Given the description of an element on the screen output the (x, y) to click on. 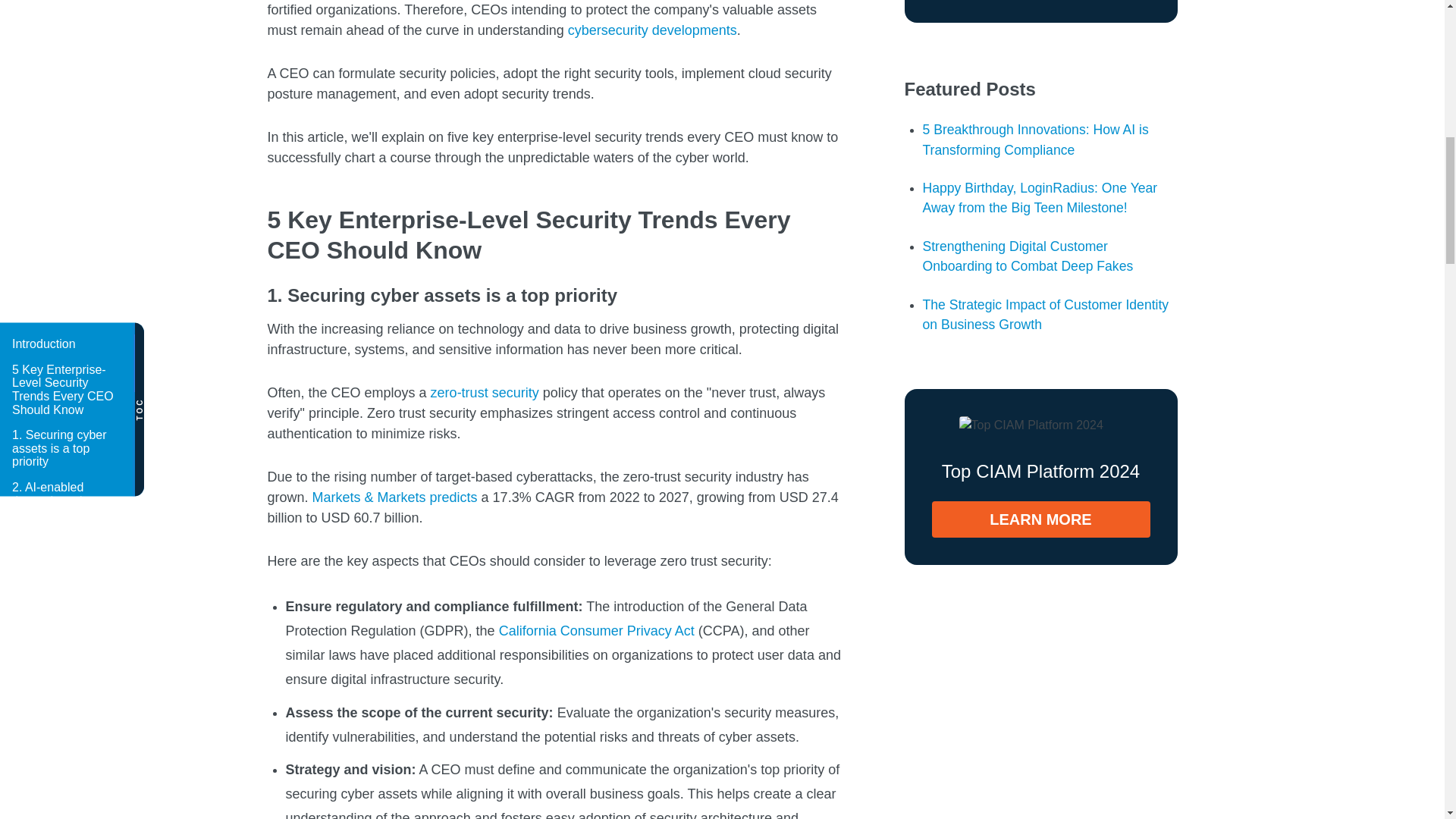
zero-trust security (484, 392)
California Consumer Privacy Act (596, 630)
The Strategic Impact of Customer Identity on Business Growth (1045, 314)
LEARN MORE (1040, 519)
cybersecurity developments (651, 29)
